Given the description of an element on the screen output the (x, y) to click on. 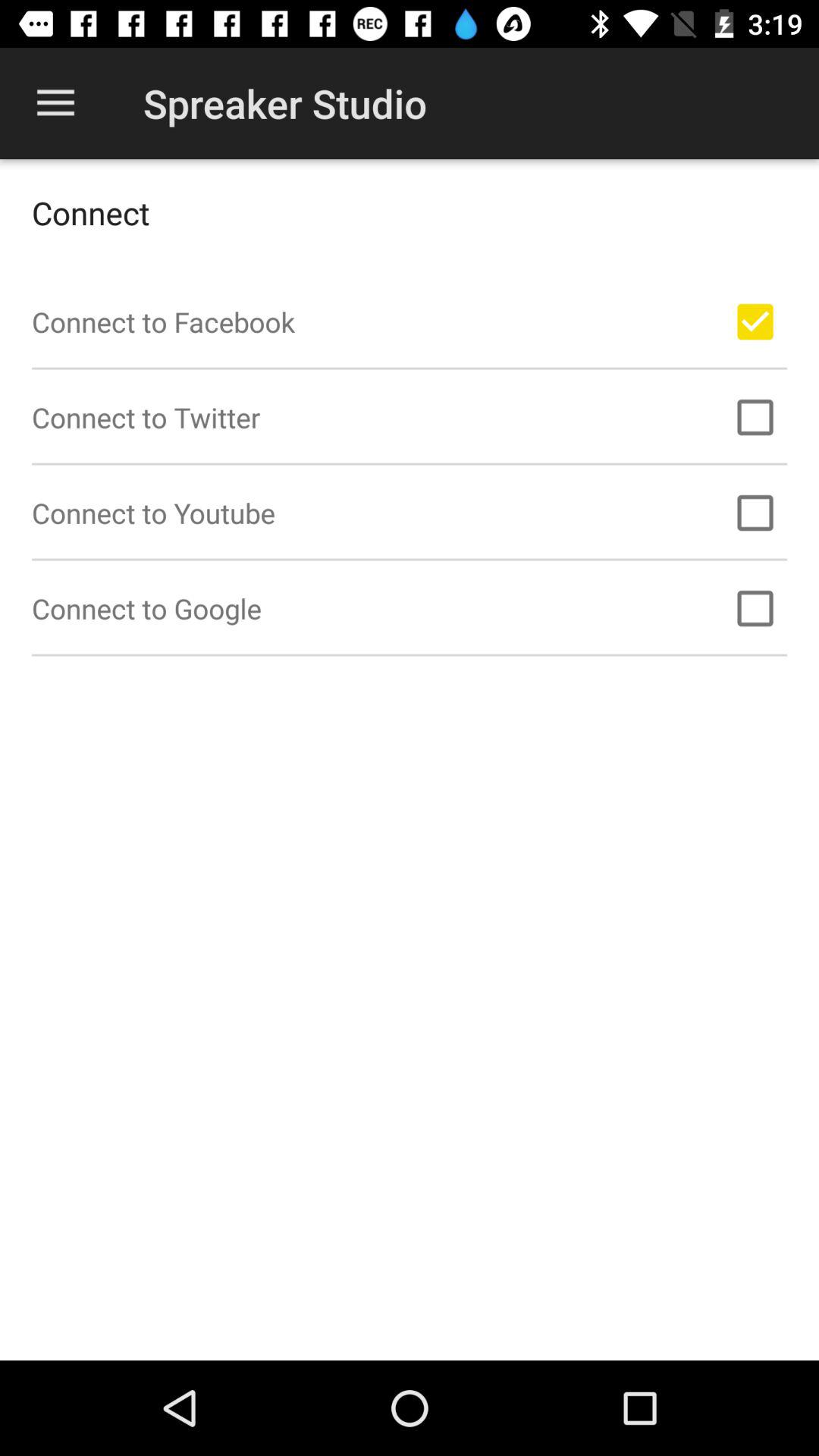
choose app next to the spreaker studio app (55, 103)
